Given the description of an element on the screen output the (x, y) to click on. 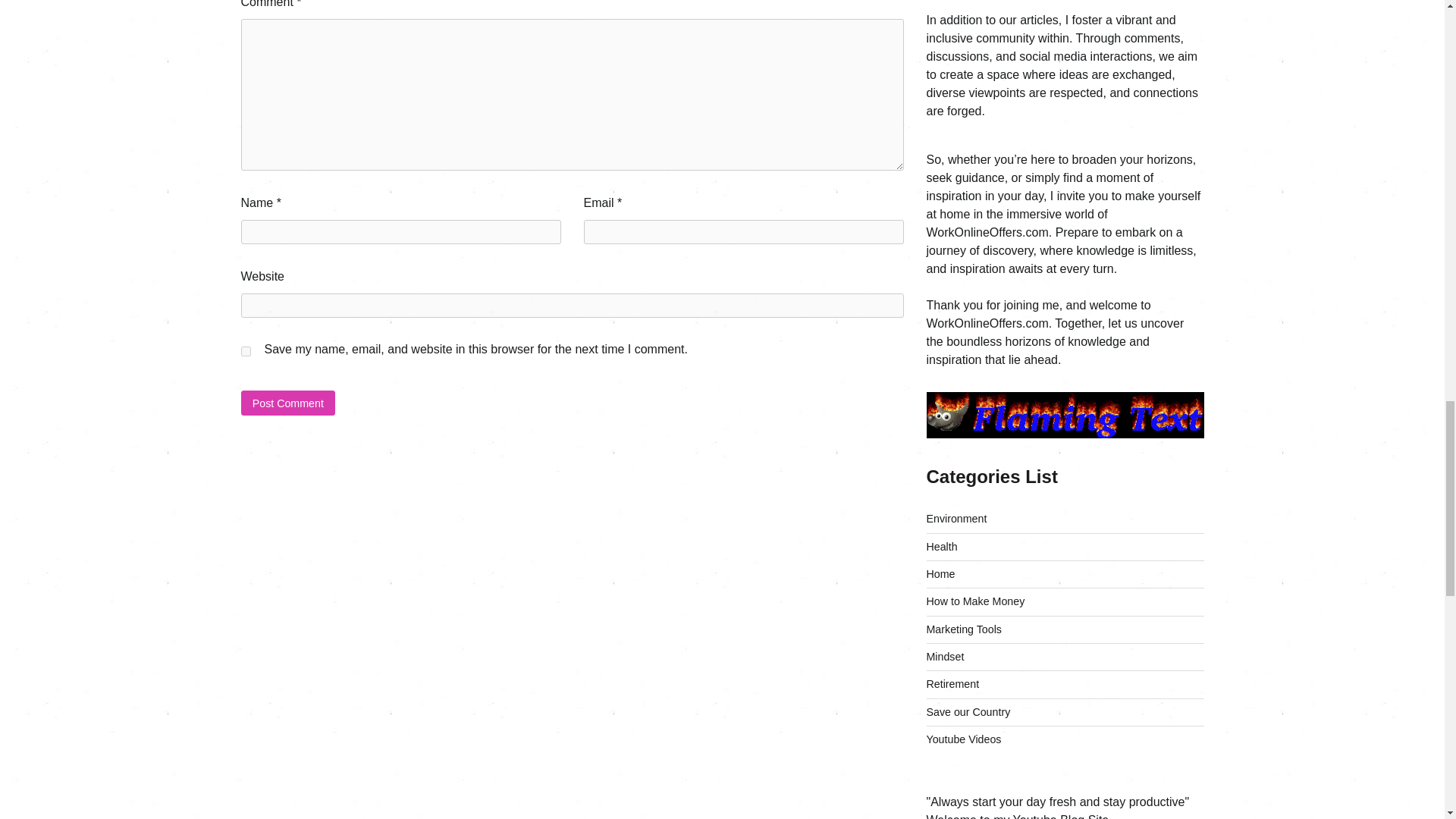
Mindset (944, 656)
Environment (956, 518)
Save our Country (968, 711)
Retirement (952, 684)
yes (245, 351)
Post Comment (288, 402)
Post Comment (288, 402)
Youtube Videos (963, 739)
Marketing Tools (963, 629)
How to Make Money (975, 601)
